Given the description of an element on the screen output the (x, y) to click on. 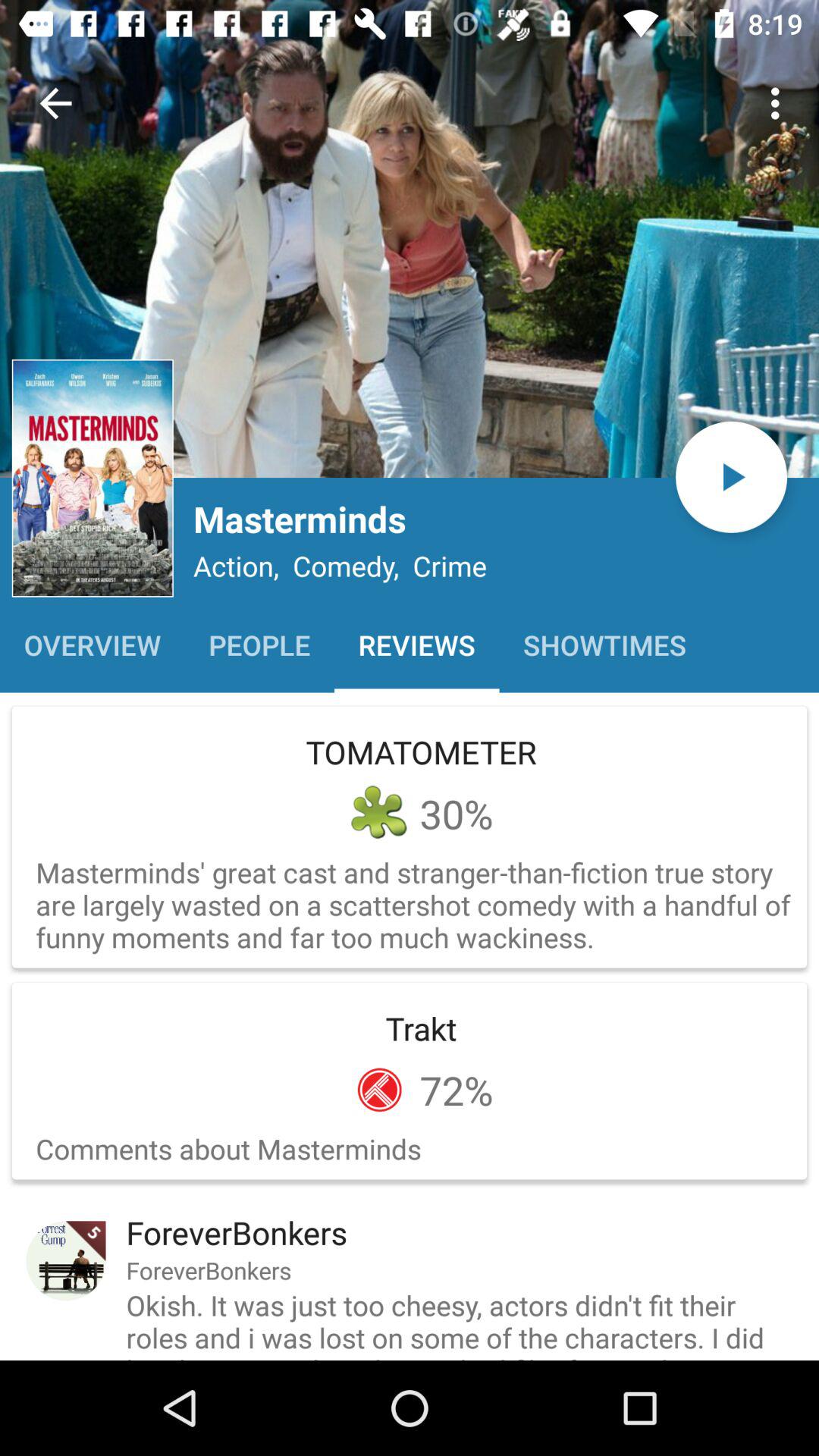
play (731, 476)
